Given the description of an element on the screen output the (x, y) to click on. 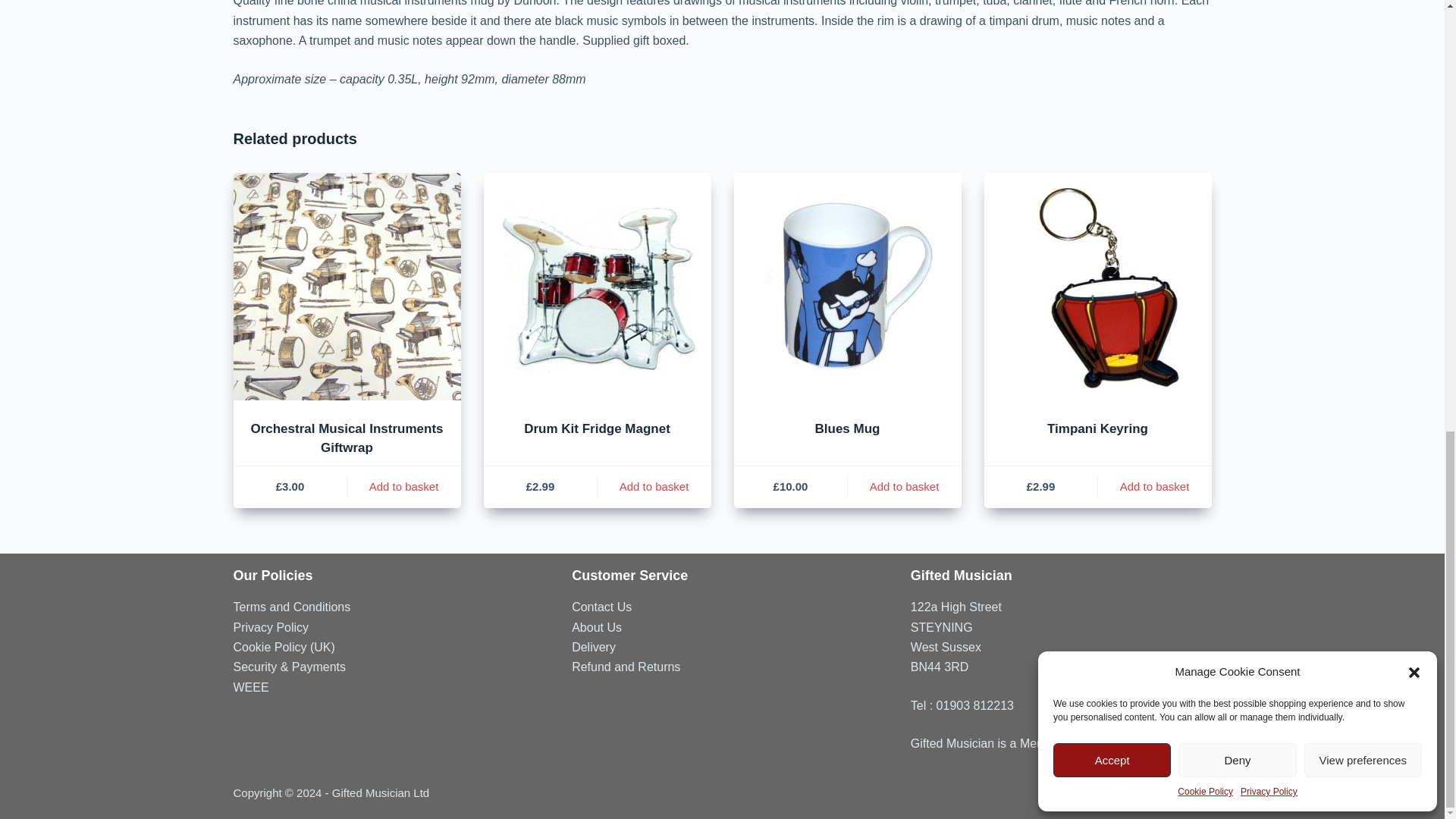
Orchestral Instruments Giftwrap (346, 286)
Timpani PVC Keyring (1097, 286)
Blues Mug (846, 286)
Drum Kit Fridge Magnet (597, 286)
